Given the description of an element on the screen output the (x, y) to click on. 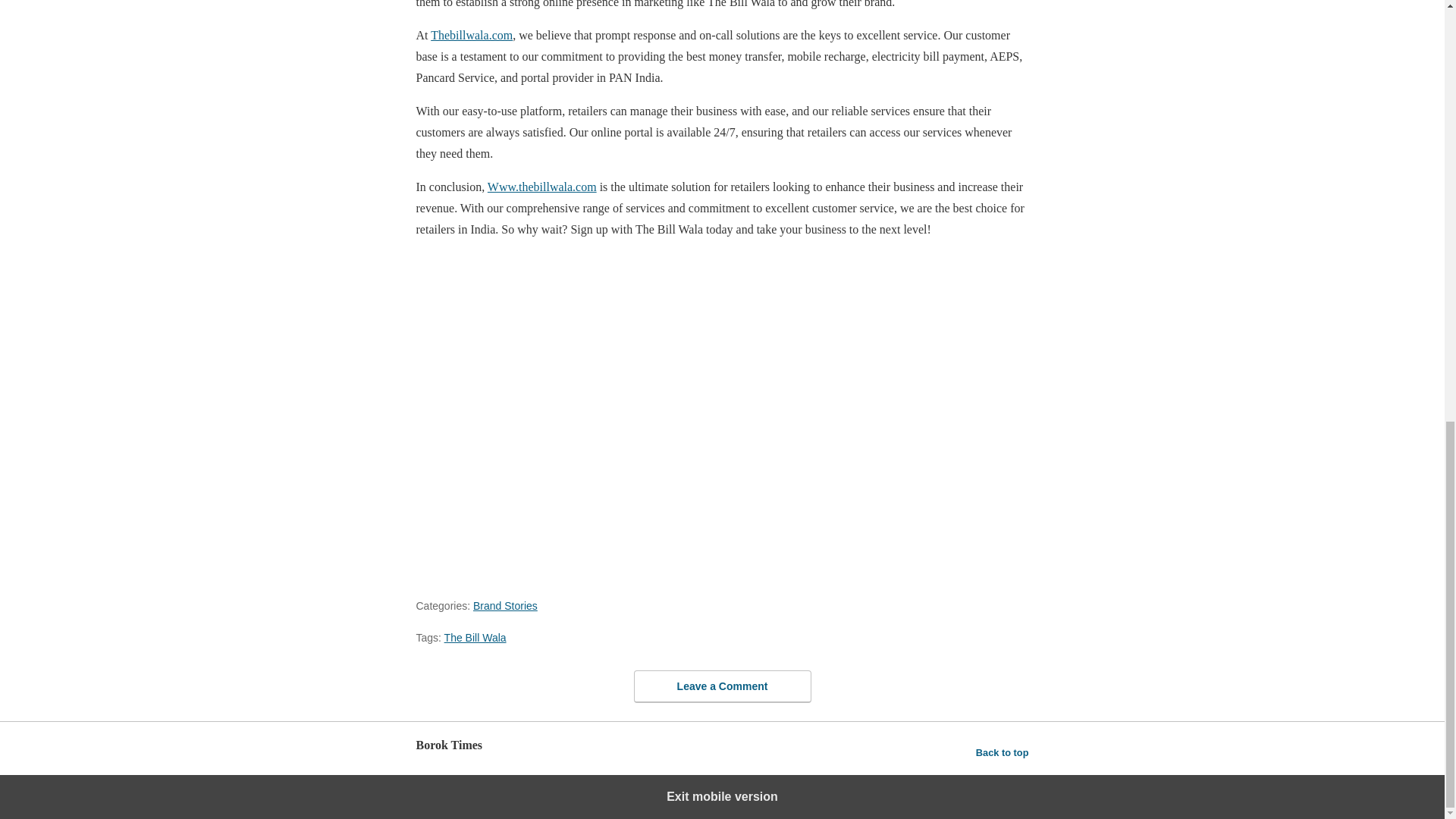
Back to top (1002, 752)
Leave a Comment (721, 686)
The Bill Wala (475, 637)
Brand Stories (505, 605)
Www.thebillwala.com (541, 186)
Thebillwala.com (471, 34)
